Given the description of an element on the screen output the (x, y) to click on. 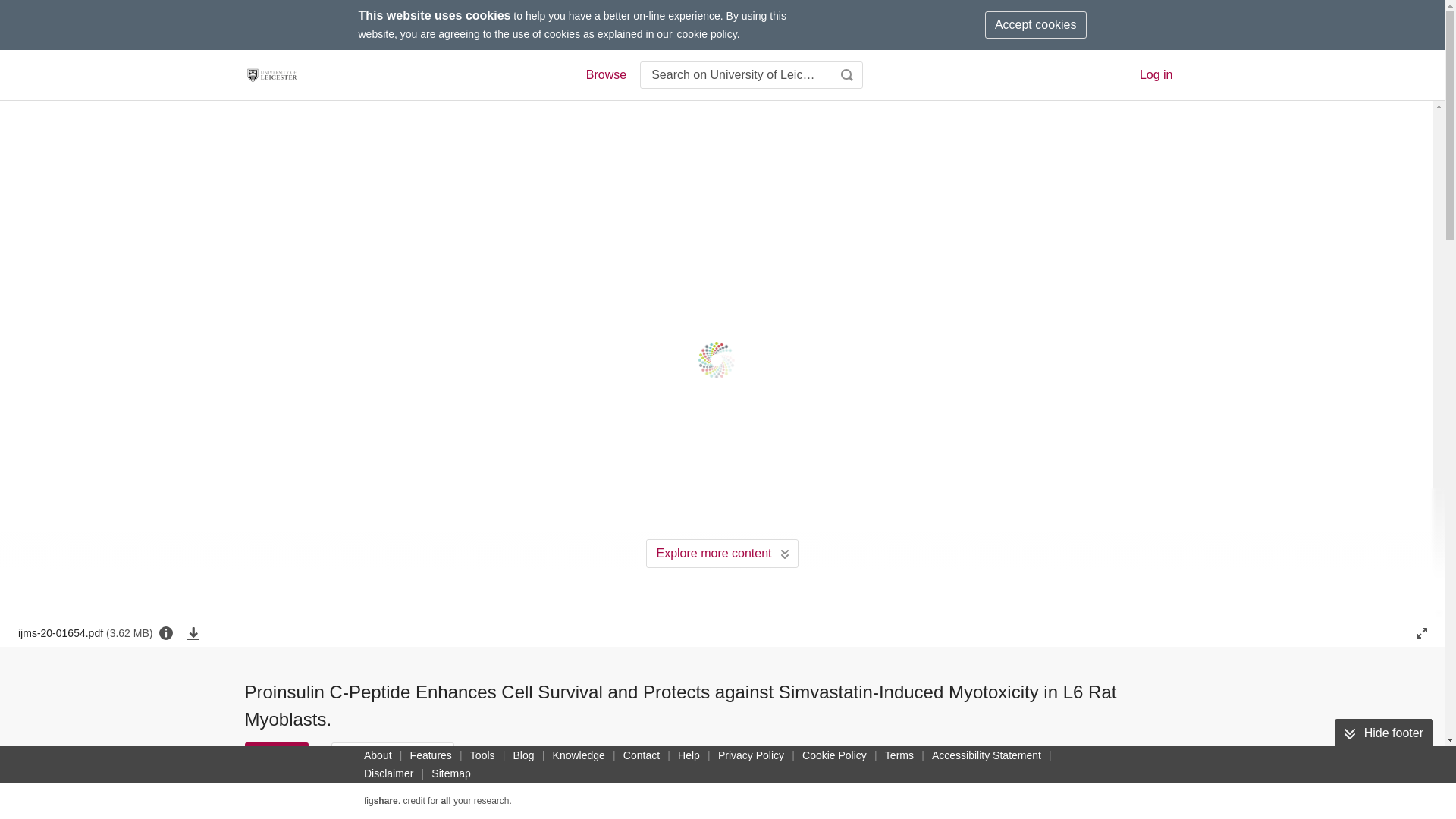
About (377, 755)
Log in (1156, 74)
cookie policy (706, 33)
Embed (551, 755)
ijms-20-01654.pdf (84, 633)
Features (431, 755)
you need to log in first (616, 755)
Explore more content (721, 553)
Accept cookies (1035, 24)
Hide footer (1383, 733)
Browse (605, 75)
Cite (275, 755)
Share (493, 755)
